Given the description of an element on the screen output the (x, y) to click on. 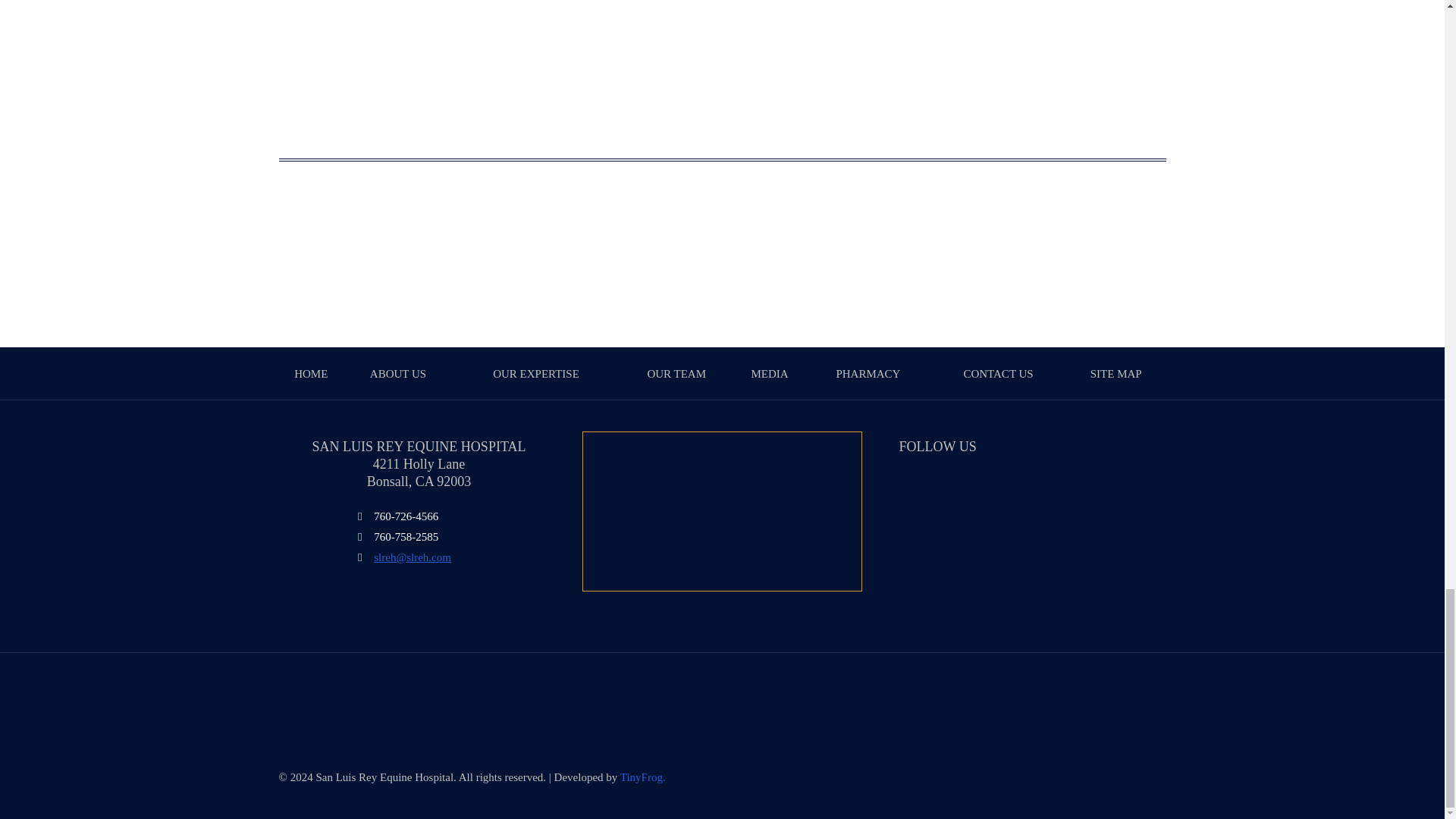
PHARMACY (867, 373)
OUR TEAM (676, 373)
MEDIA (769, 373)
HOME (310, 373)
ABOUT US (397, 373)
OUR EXPERTISE (536, 373)
